Given the description of an element on the screen output the (x, y) to click on. 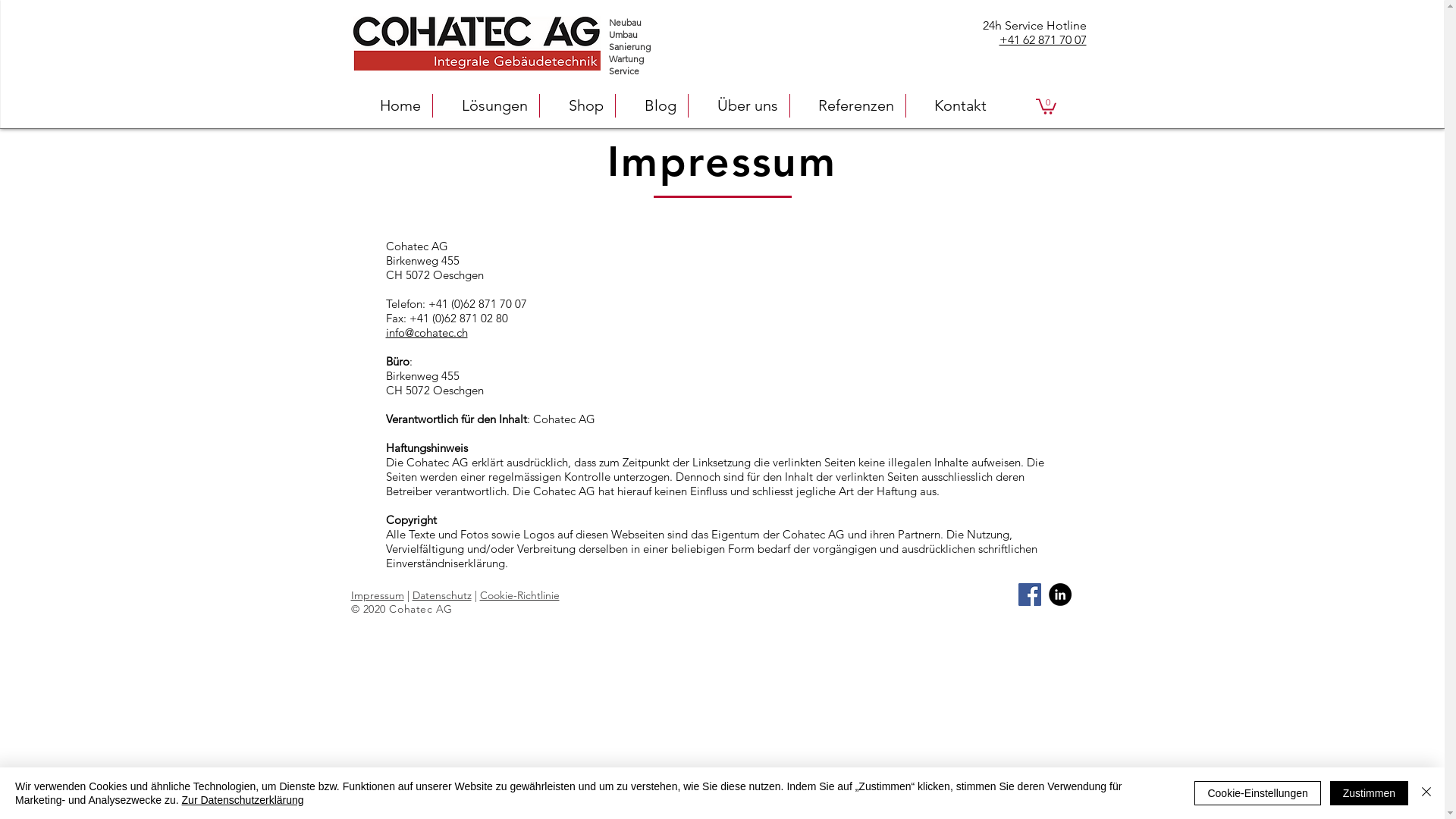
Blog Element type: text (651, 105)
Impressum Element type: text (376, 595)
0 Element type: text (1045, 105)
Datenschutz Element type: text (441, 595)
Referenzen Element type: text (847, 105)
info@cohatec.ch Element type: text (426, 332)
+41 62 871 70 07 Element type: text (1042, 39)
Home Element type: text (390, 105)
Shop Element type: text (577, 105)
Cookie-Richtlinie Element type: text (518, 595)
Kontakt Element type: text (951, 105)
